Given the description of an element on the screen output the (x, y) to click on. 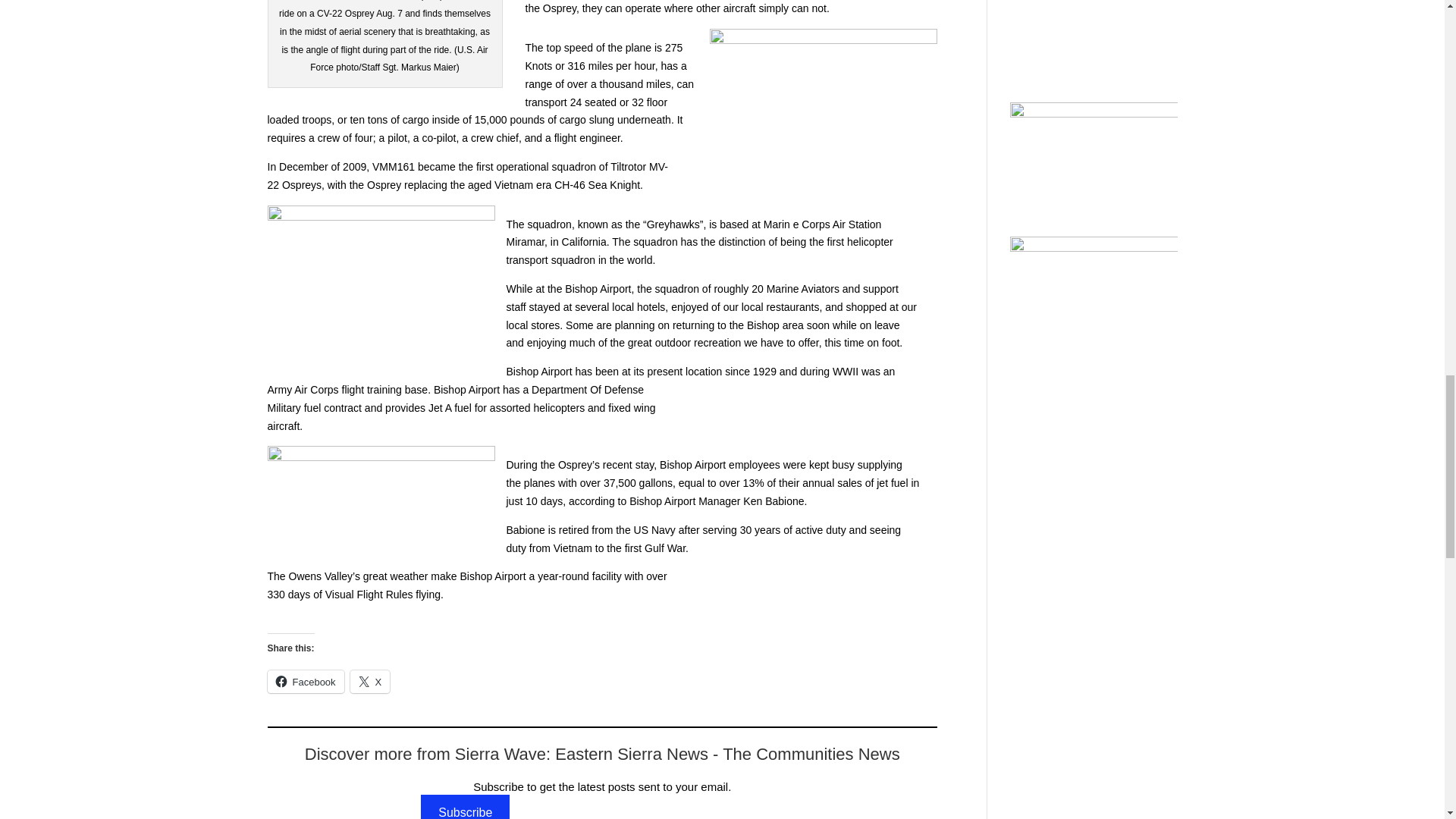
Click to share on X (370, 681)
X (370, 681)
Subscribe (465, 806)
Click to share on Facebook (304, 681)
Facebook (304, 681)
